Given the description of an element on the screen output the (x, y) to click on. 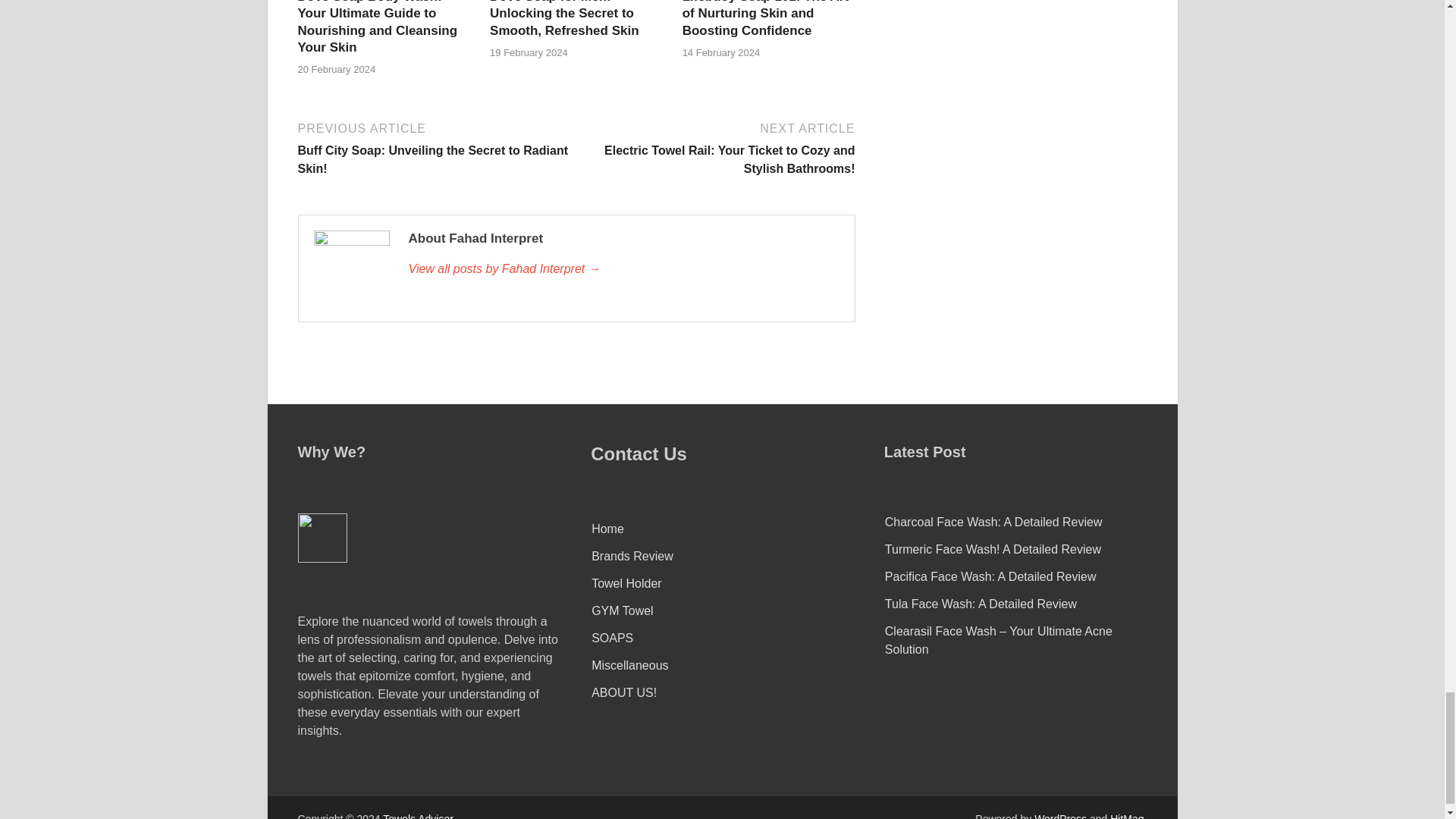
Fahad Interpret (622, 269)
